Given the description of an element on the screen output the (x, y) to click on. 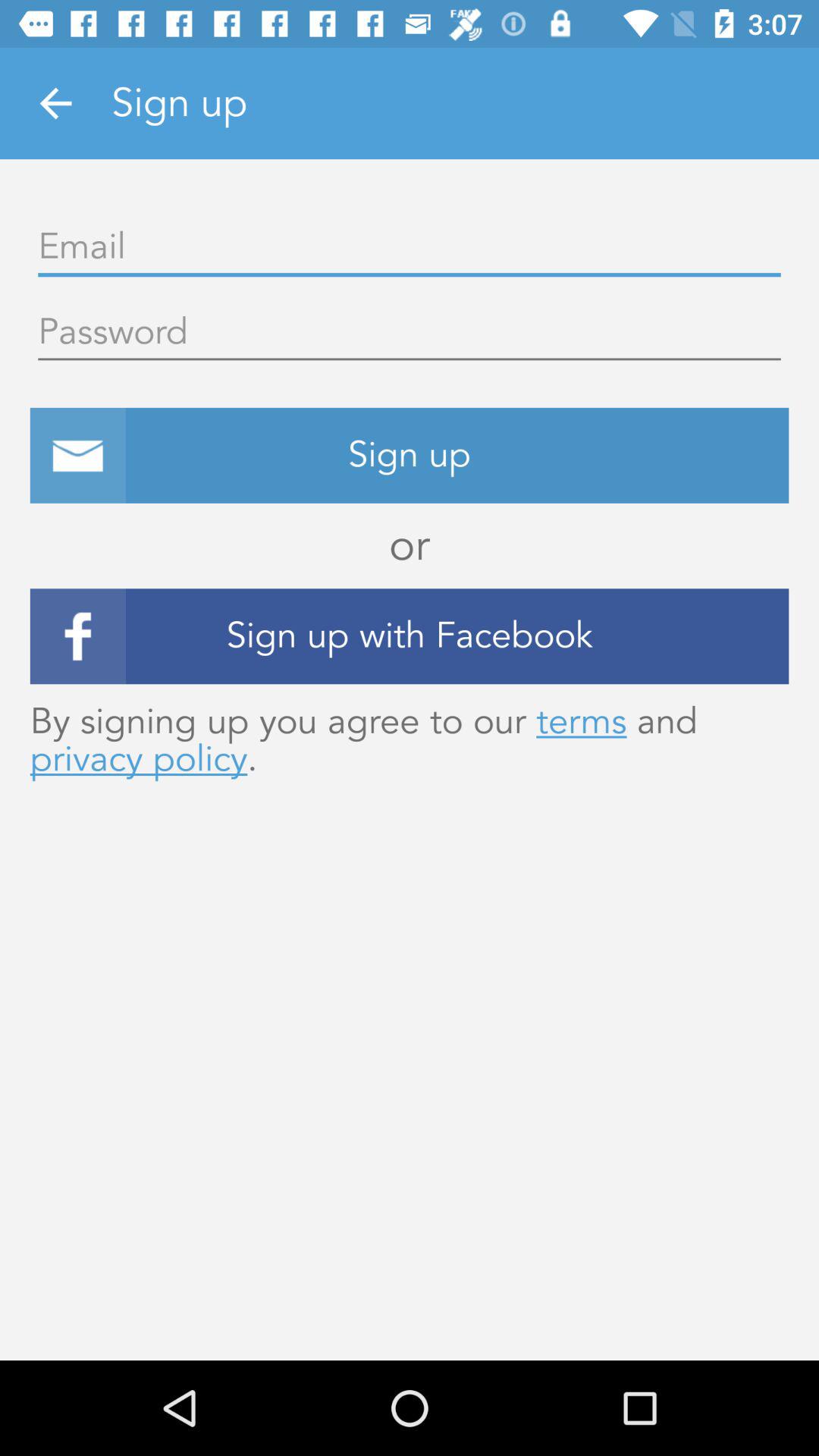
open field for email address (409, 247)
